Given the description of an element on the screen output the (x, y) to click on. 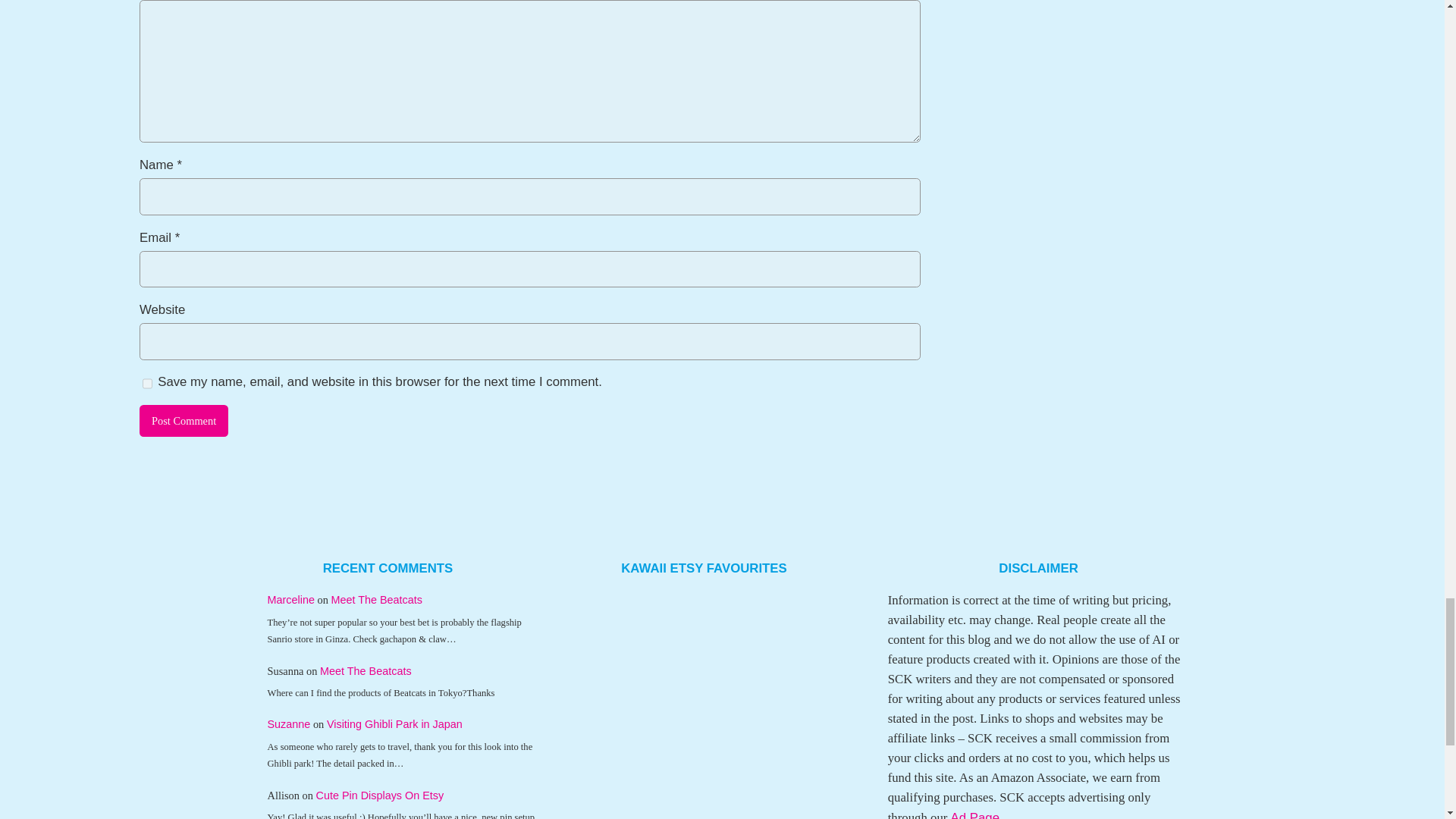
Post Comment (183, 420)
